Given the description of an element on the screen output the (x, y) to click on. 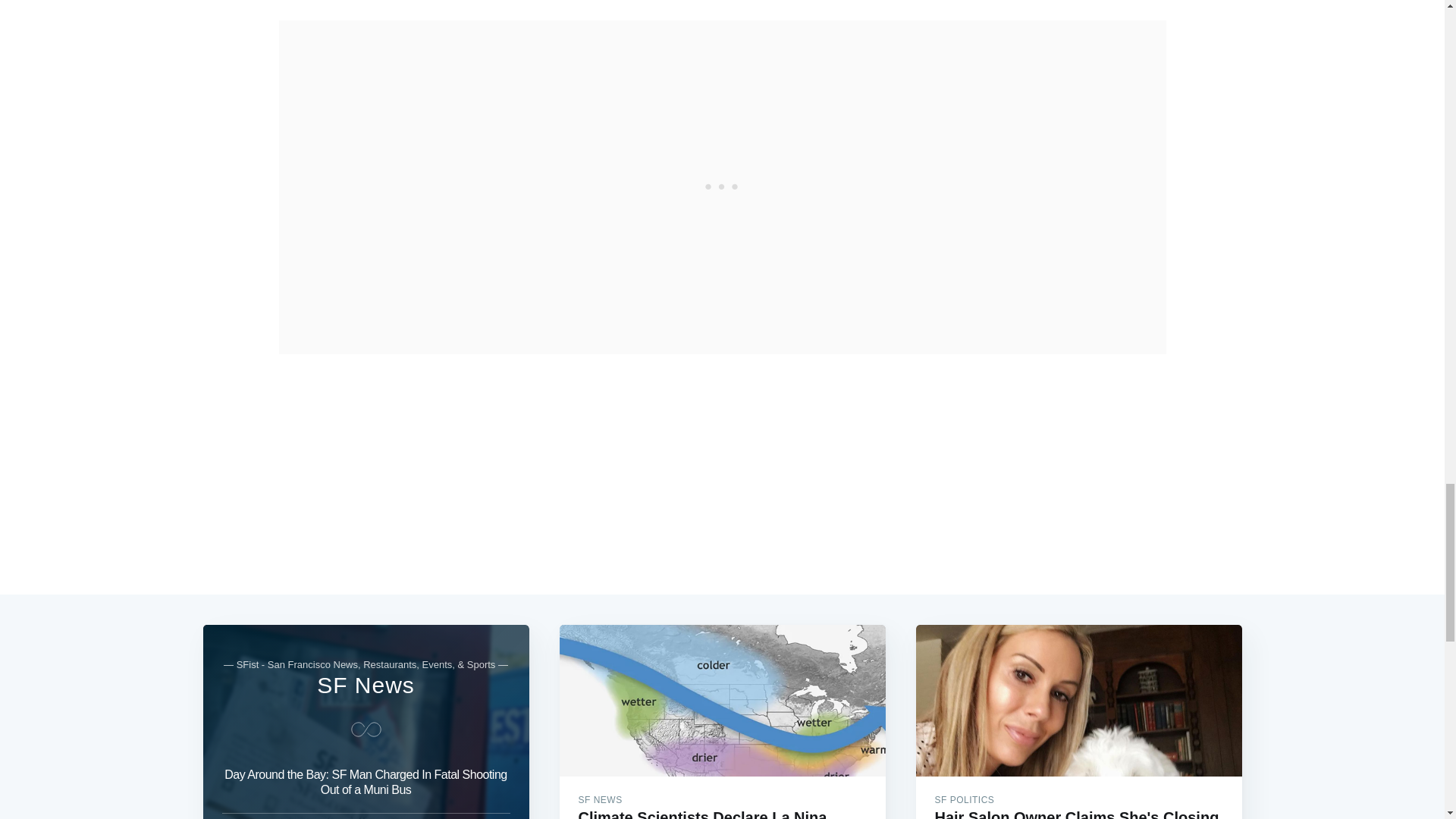
SF News (365, 684)
